Given the description of an element on the screen output the (x, y) to click on. 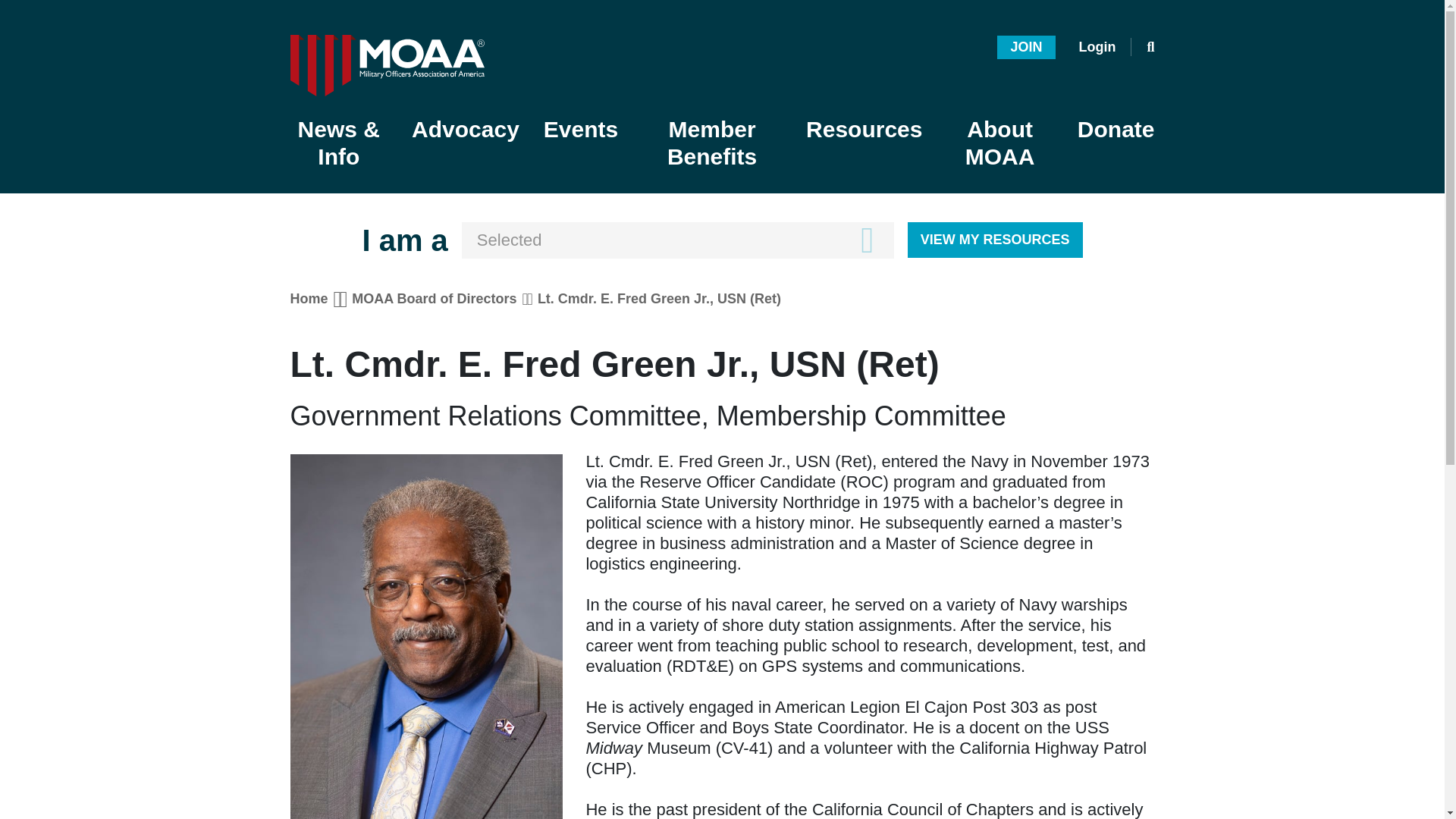
JOIN (1025, 46)
Login (1096, 46)
Events (580, 130)
Advocacy (464, 130)
Member Benefits (711, 143)
